Given the description of an element on the screen output the (x, y) to click on. 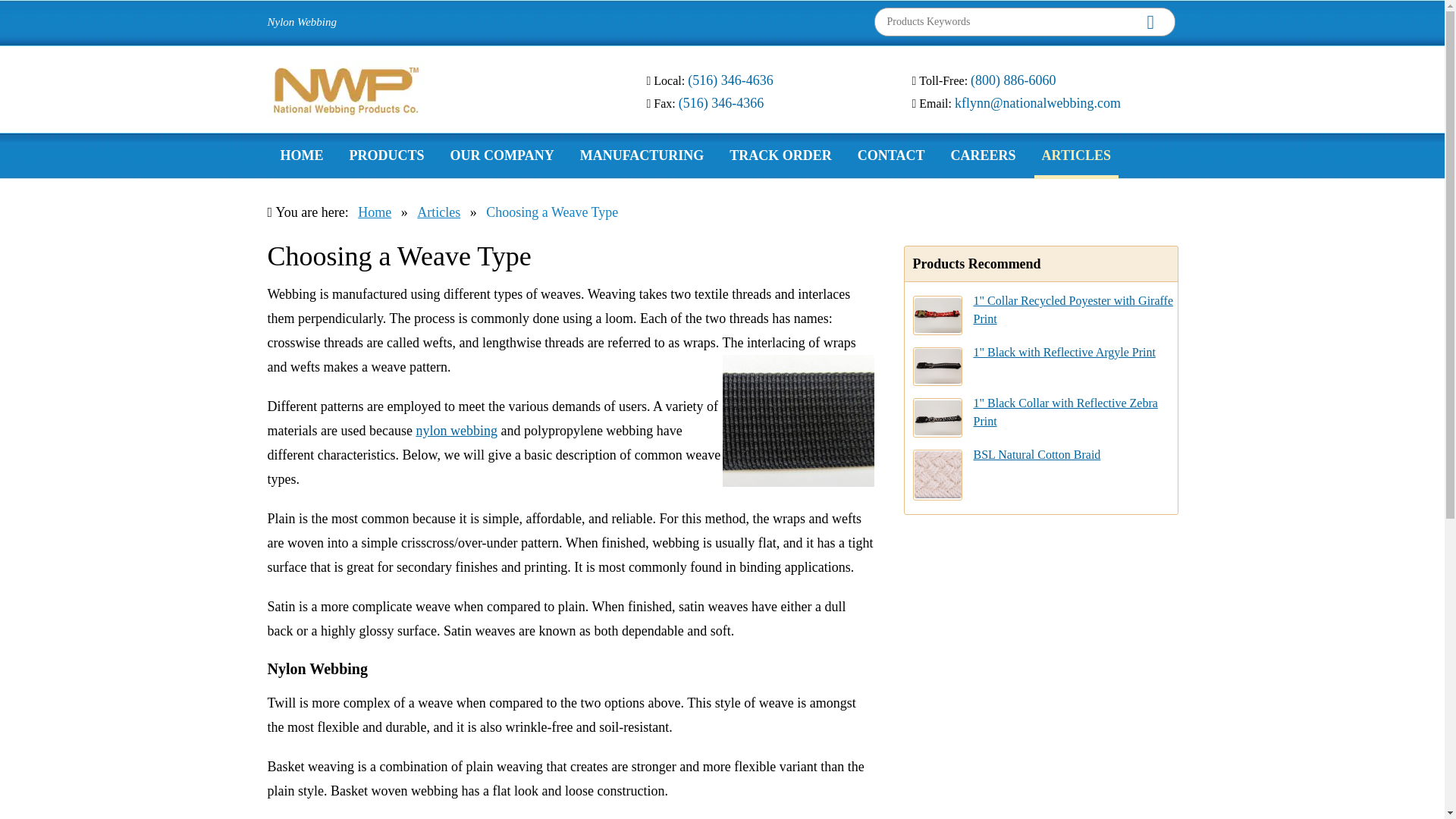
Nylon Webbing (301, 21)
MANUFACTURING (641, 153)
OUR COMPANY (502, 153)
ARTICLES (1075, 155)
TRACK ORDER (781, 153)
PRODUCTS (385, 153)
HOME (302, 153)
nylon webbing (797, 420)
CAREERS (983, 153)
CONTACT (891, 153)
